Given the description of an element on the screen output the (x, y) to click on. 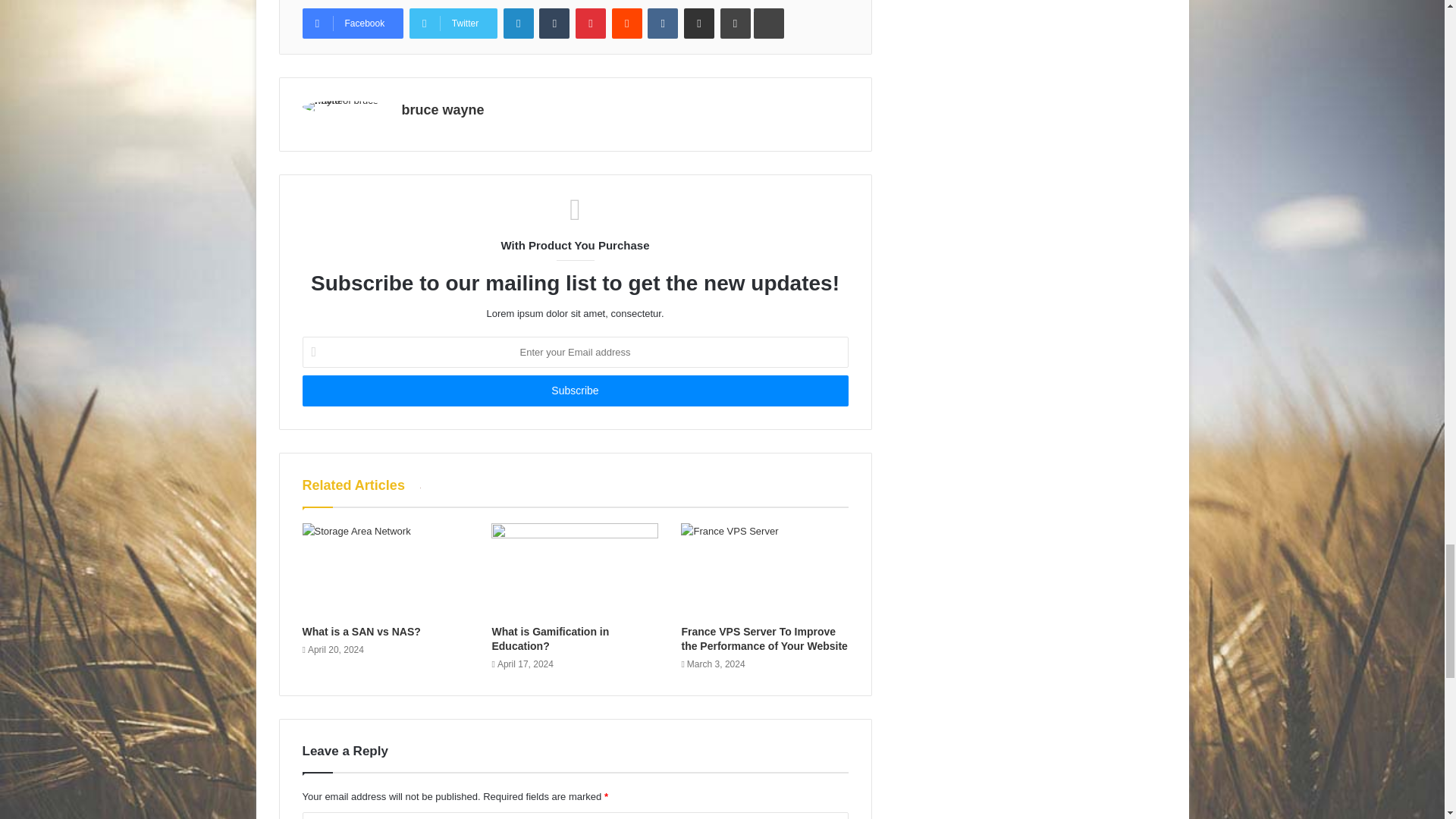
Pinterest (590, 23)
LinkedIn (518, 23)
Facebook (352, 23)
Twitter (453, 23)
Twitter (453, 23)
Tumblr (553, 23)
LinkedIn (518, 23)
Subscribe (574, 390)
Facebook (352, 23)
Tumblr (553, 23)
